Given the description of an element on the screen output the (x, y) to click on. 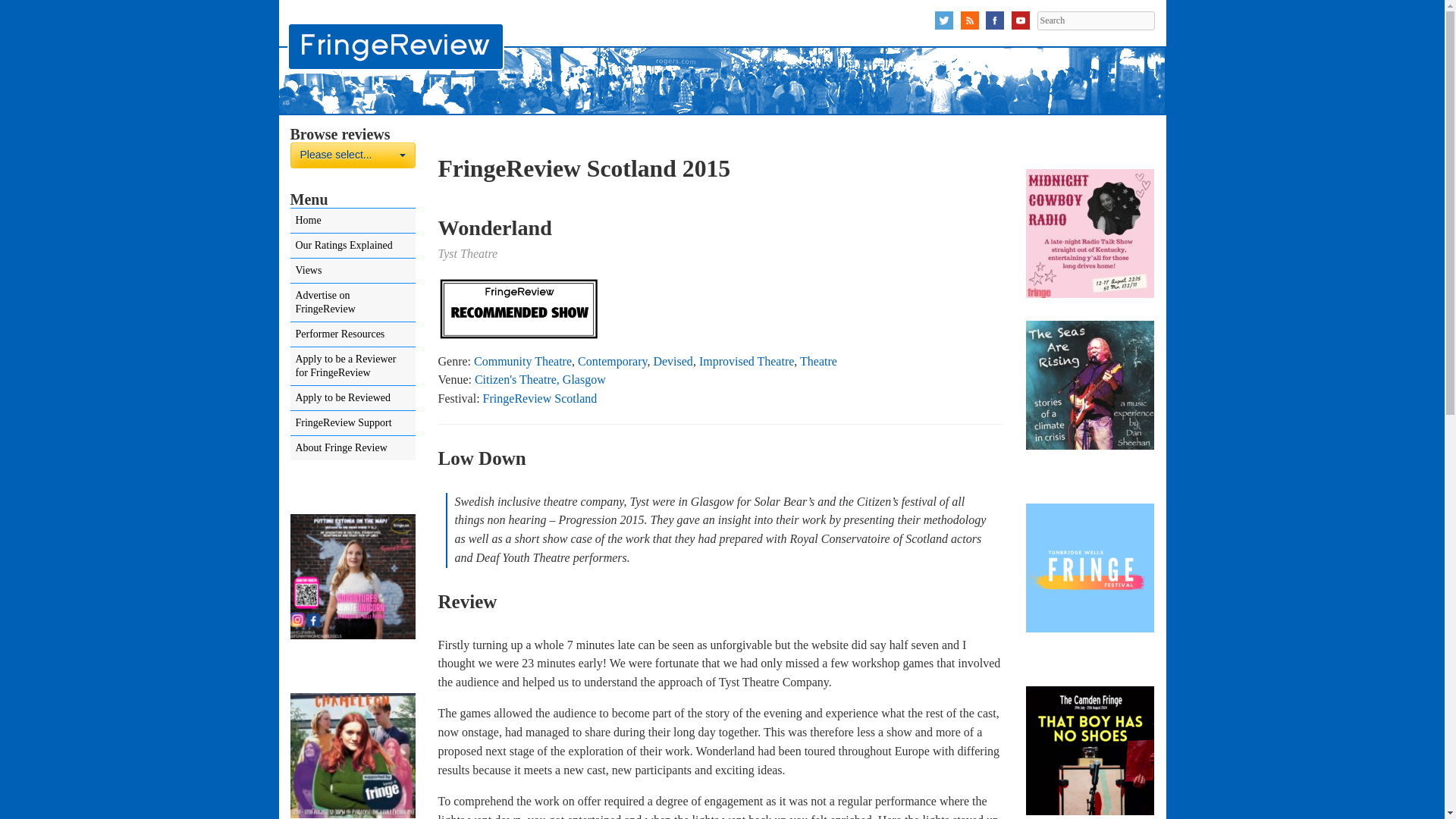
Please select... (351, 155)
Search for: (1095, 20)
Search (351, 155)
Search (1095, 20)
